Given the description of an element on the screen output the (x, y) to click on. 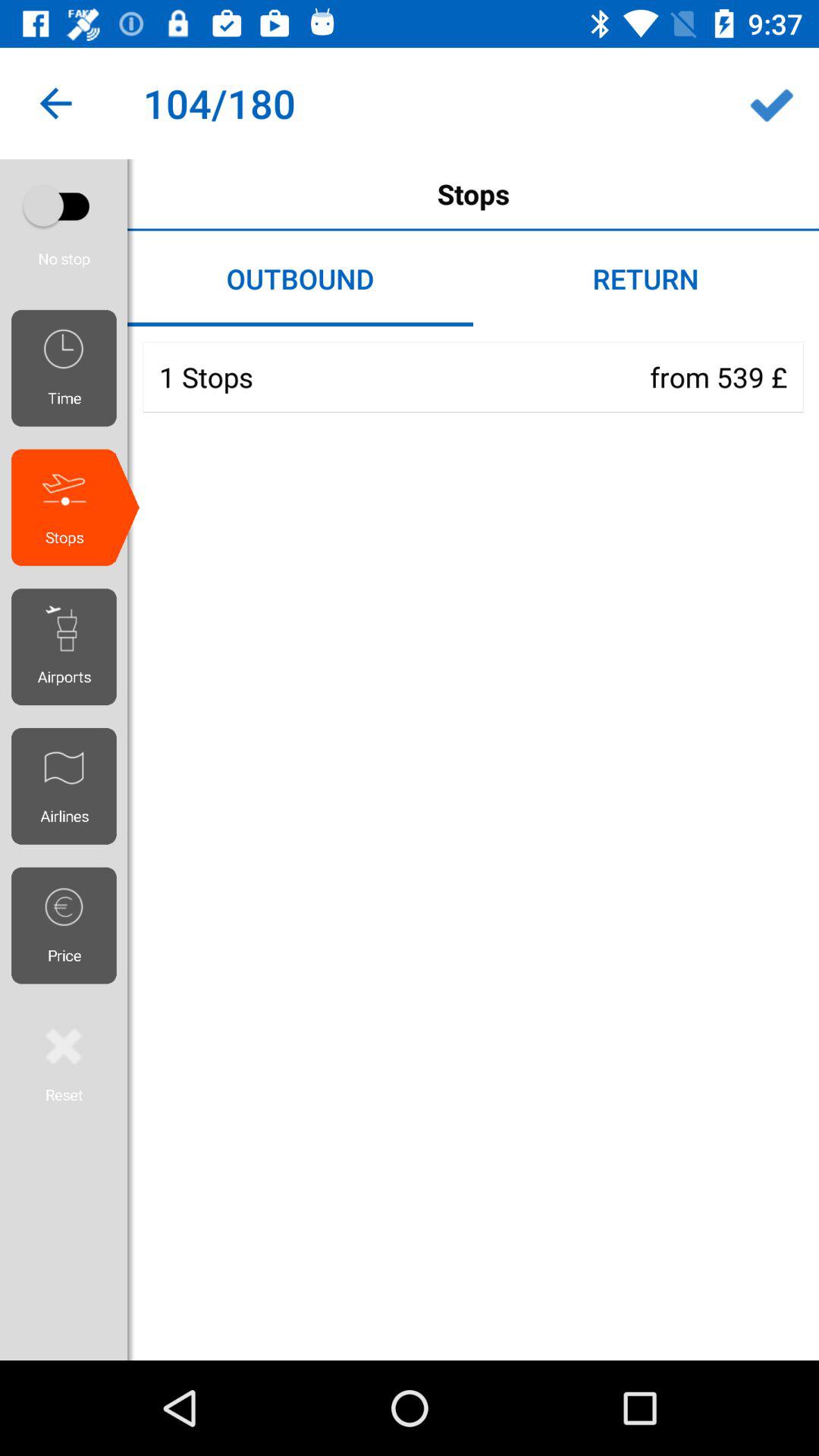
select 1 stops from 539 pounds which is after time on the page (473, 377)
click on the text return (646, 278)
